Given the description of an element on the screen output the (x, y) to click on. 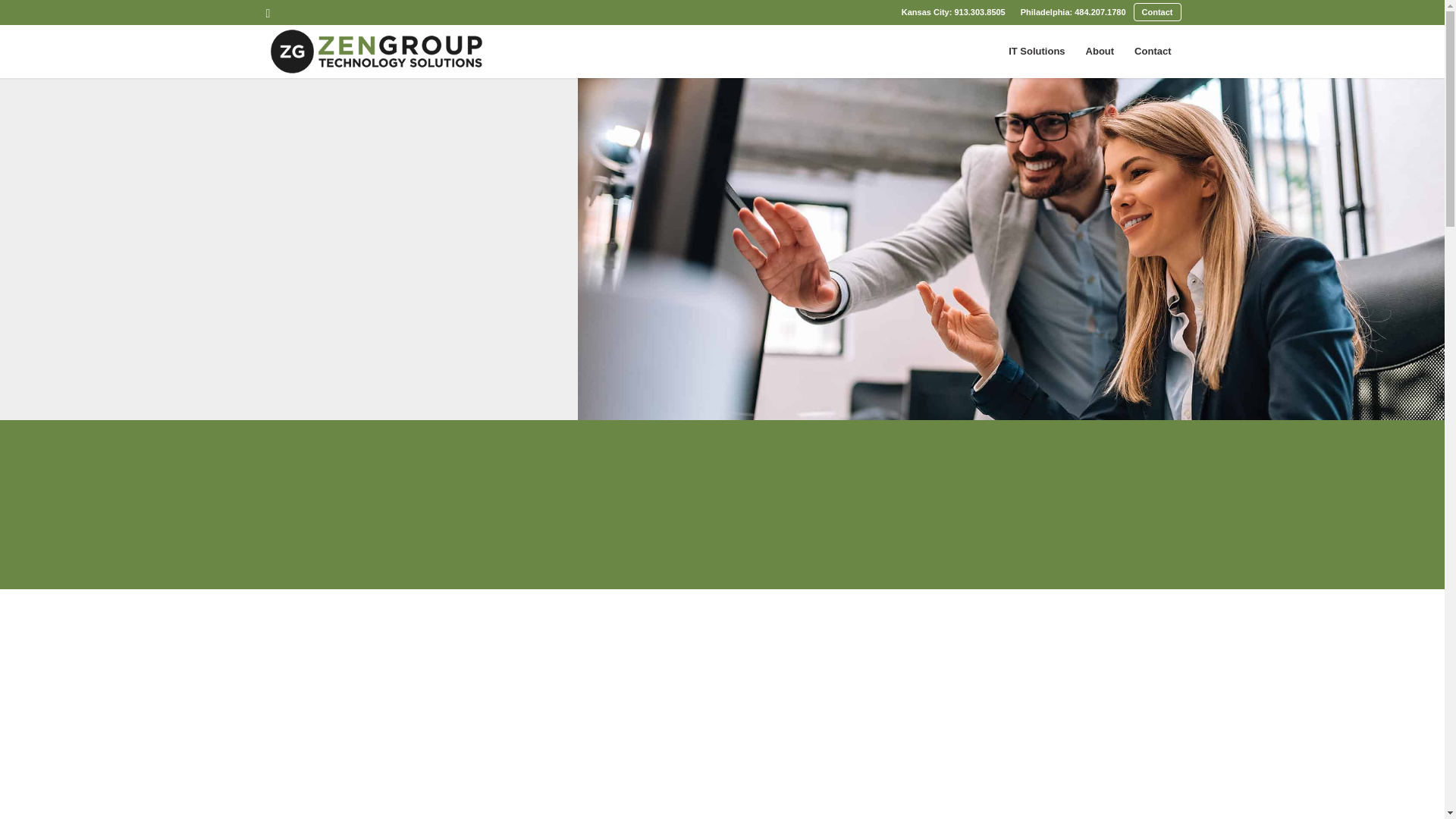
Contact (1152, 51)
IT Solutions (1036, 51)
About (1099, 51)
Philadelphia: 484.207.1780 (1072, 12)
Zen Group Logo (376, 51)
Kansas City: 913.303.8505 (953, 12)
Contact (1157, 12)
LinkedIn (267, 13)
